Given the description of an element on the screen output the (x, y) to click on. 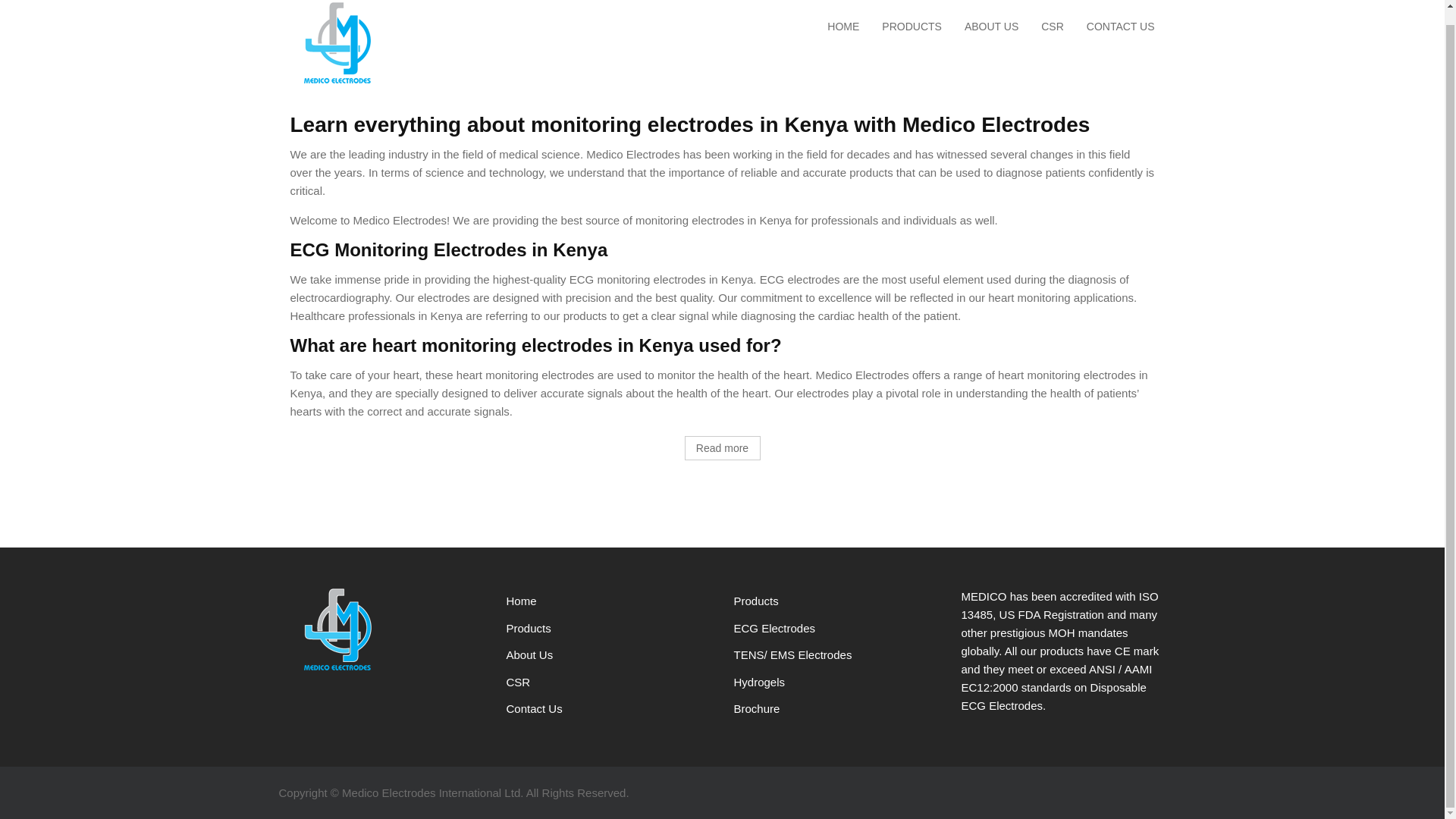
About Us (529, 654)
Hydrogels (759, 681)
HOME (842, 27)
Products (528, 626)
CONTACT US (1120, 27)
Home (521, 600)
PRODUCTS (911, 27)
ABOUT US (991, 27)
ECG Electrodes (774, 626)
Brochure (756, 707)
